Given the description of an element on the screen output the (x, y) to click on. 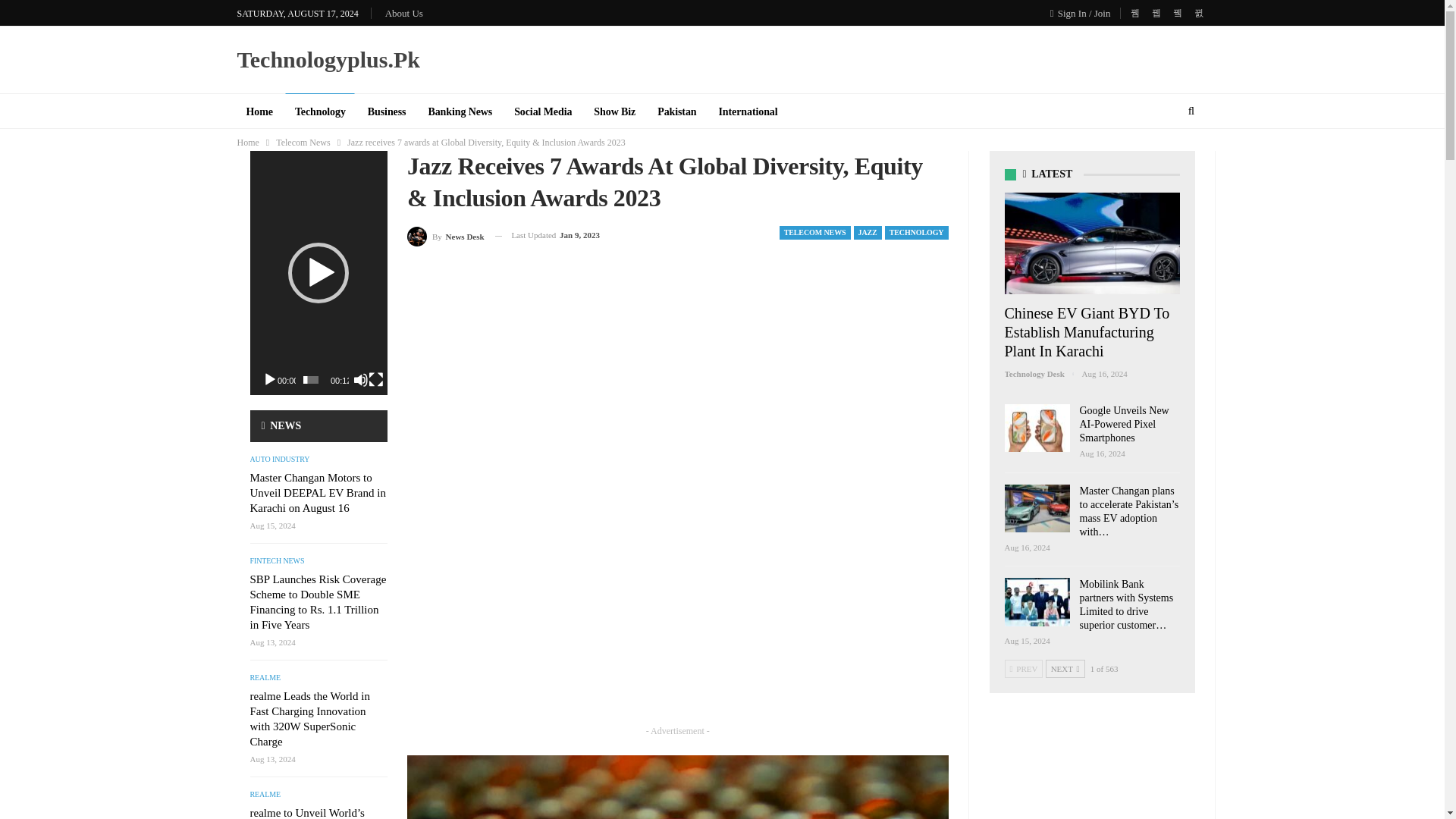
Technology (320, 112)
Telecom News (303, 142)
About Us (404, 12)
Social Media (542, 112)
Home (247, 142)
JAZZ (867, 232)
By News Desk (445, 235)
TELECOM NEWS (814, 232)
Show Biz (615, 112)
Technologyplus.Pk (327, 59)
